Given the description of an element on the screen output the (x, y) to click on. 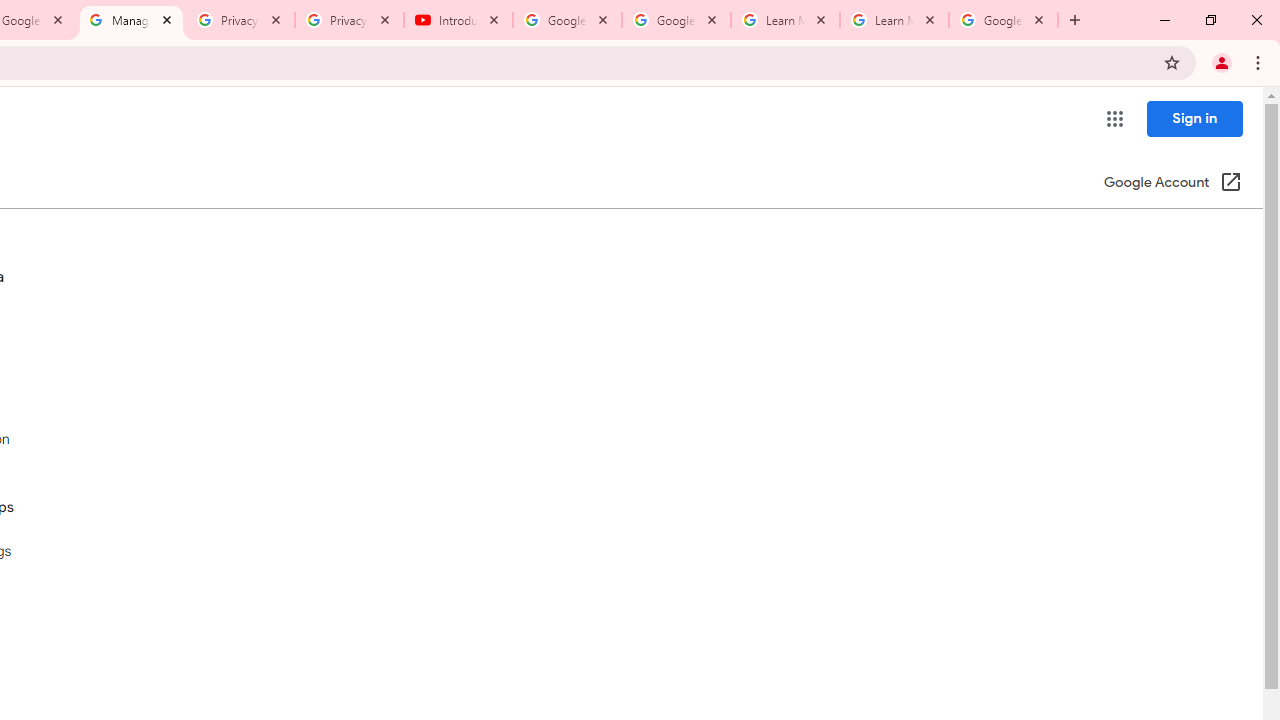
Google Account (1003, 20)
Google Account Help (676, 20)
Google Account (Open in a new window) (1172, 183)
